Given the description of an element on the screen output the (x, y) to click on. 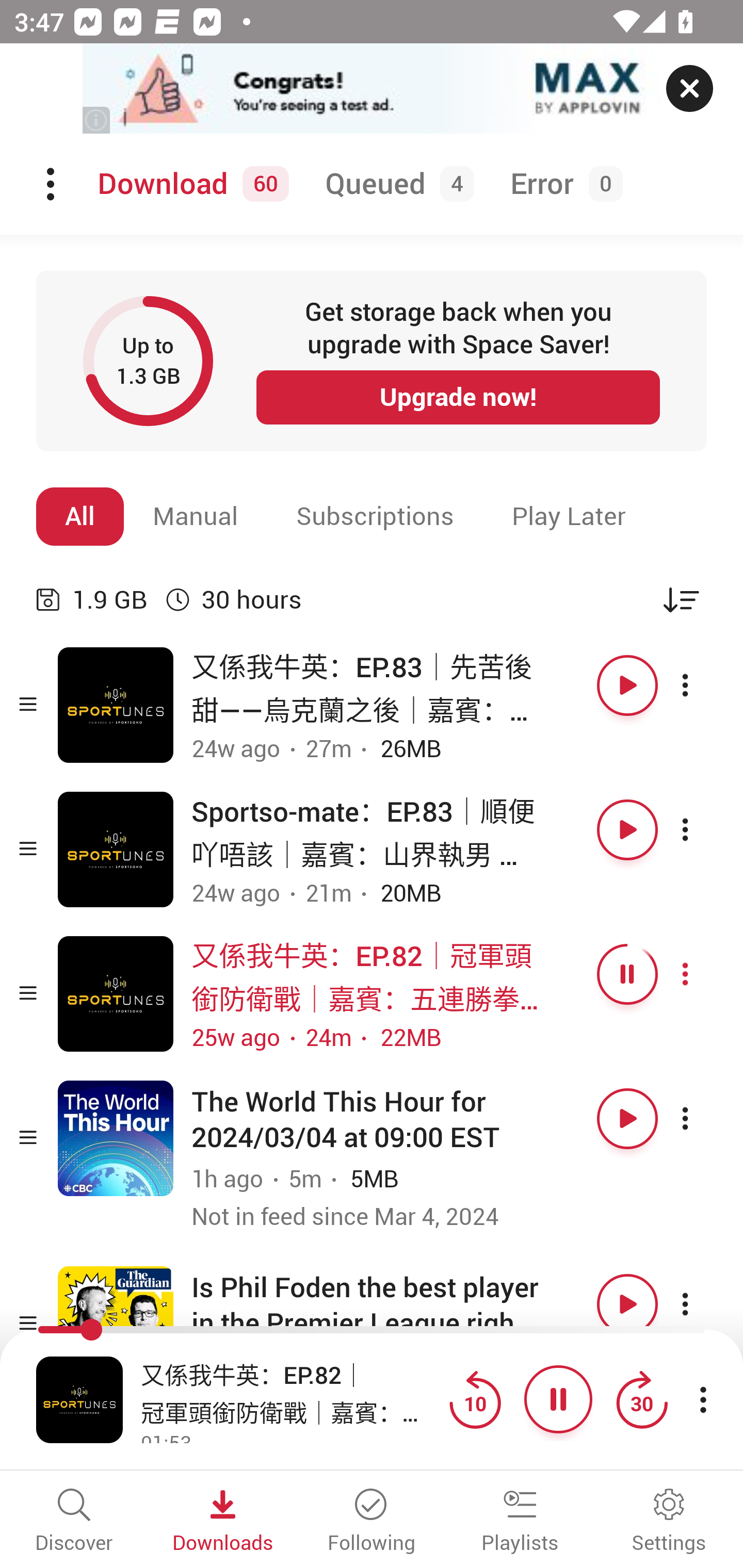
app-monetization (371, 88)
(i) (96, 119)
Menu (52, 184)
 Download 60 (189, 184)
 Queued 4 (396, 184)
 Error 0 (562, 184)
All (80, 516)
Manual (195, 516)
Subscriptions (374, 516)
Play Later (568, 516)
Change sort order (681, 599)
Play button (627, 685)
More options (703, 685)
Open series Sportunes HK (115, 705)
Play button (627, 830)
More options (703, 830)
Open series Sportunes HK (115, 849)
Pause button (627, 974)
More options (703, 974)
Open series Sportunes HK (115, 994)
Play button (627, 1118)
More options (703, 1118)
Open series The World This Hour (115, 1138)
Play button (627, 1304)
More options (703, 1304)
Open series Football Weekly (115, 1323)
Open fullscreen player (79, 1399)
又係我牛英：EP.82｜冠軍頭銜防衛戰｜嘉賓：五連勝拳后 楊曉茹 (290, 1392)
More player controls (703, 1399)
Pause button (558, 1398)
Jump back (475, 1399)
Jump forward (641, 1399)
Discover (74, 1521)
Downloads (222, 1521)
Following (371, 1521)
Playlists (519, 1521)
Settings (668, 1521)
